Given the description of an element on the screen output the (x, y) to click on. 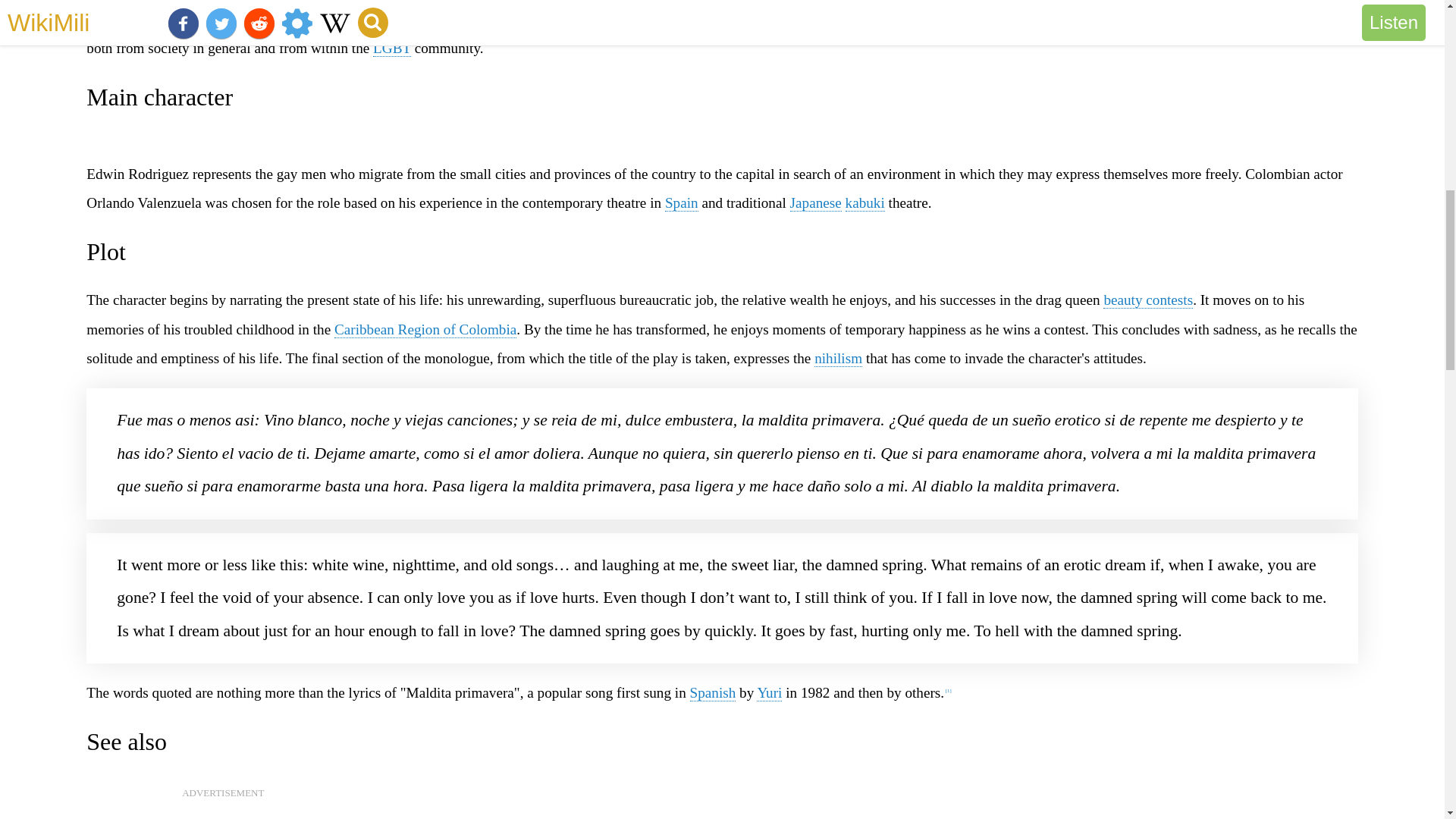
James Joyce (220, 18)
Proust (601, 18)
LGBT (391, 48)
Proust (601, 18)
Kitsch (643, 18)
Ulysses (292, 18)
Molly Bloom (125, 18)
beauty contests (1147, 299)
kabuki (865, 202)
intolerance (1304, 18)
Orlando Valenzuela (142, 202)
Groucho Marx (1049, 18)
kitsch (643, 18)
James Joyce (220, 18)
Spain (681, 202)
